Given the description of an element on the screen output the (x, y) to click on. 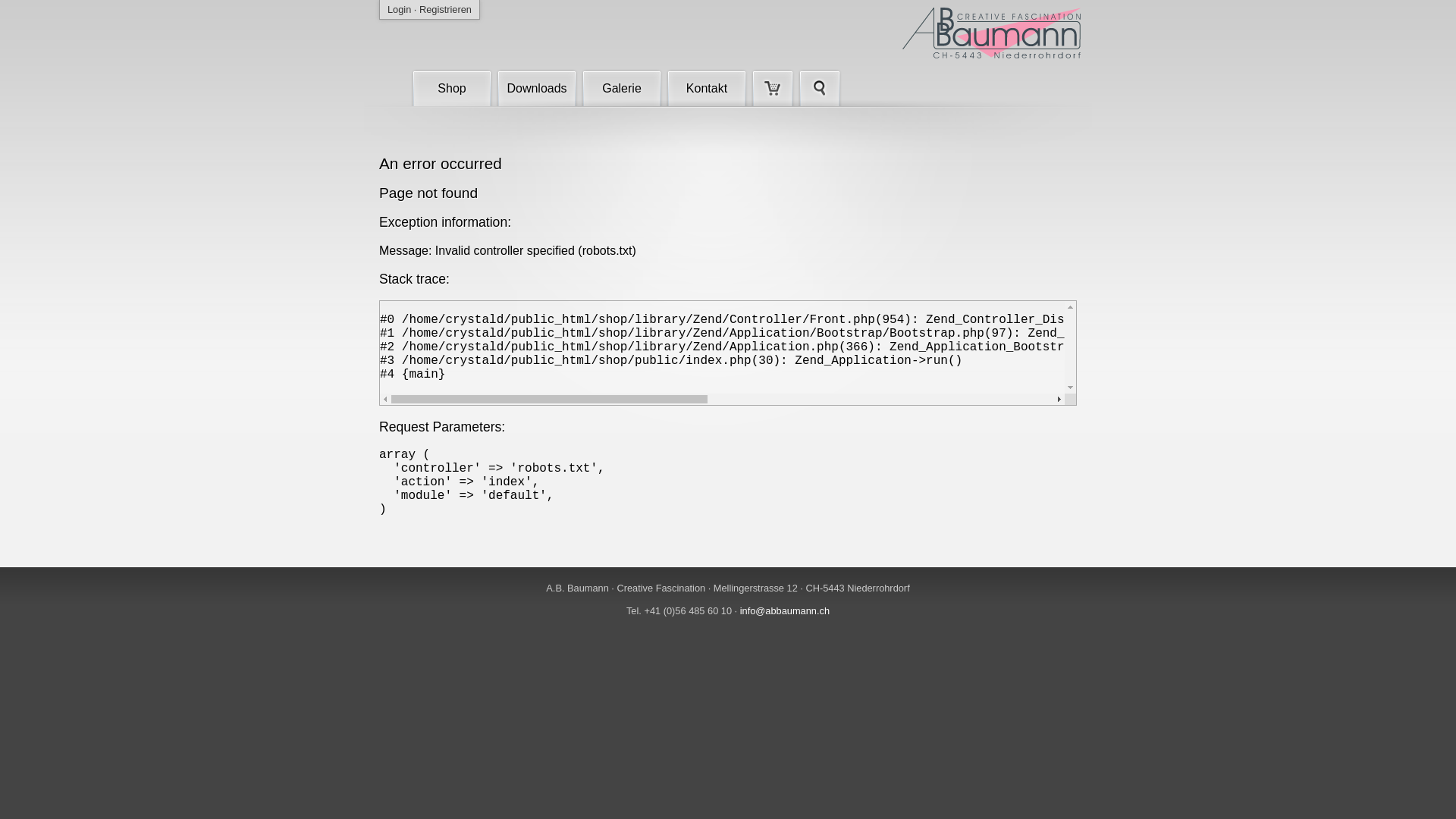
info@abbaumann.ch Element type: text (784, 610)
Registrieren Element type: text (445, 9)
Shop Element type: text (451, 87)
Galerie Element type: text (621, 87)
Login Element type: text (399, 9)
Downloads Element type: text (536, 87)
Kontakt Element type: text (706, 87)
